Given the description of an element on the screen output the (x, y) to click on. 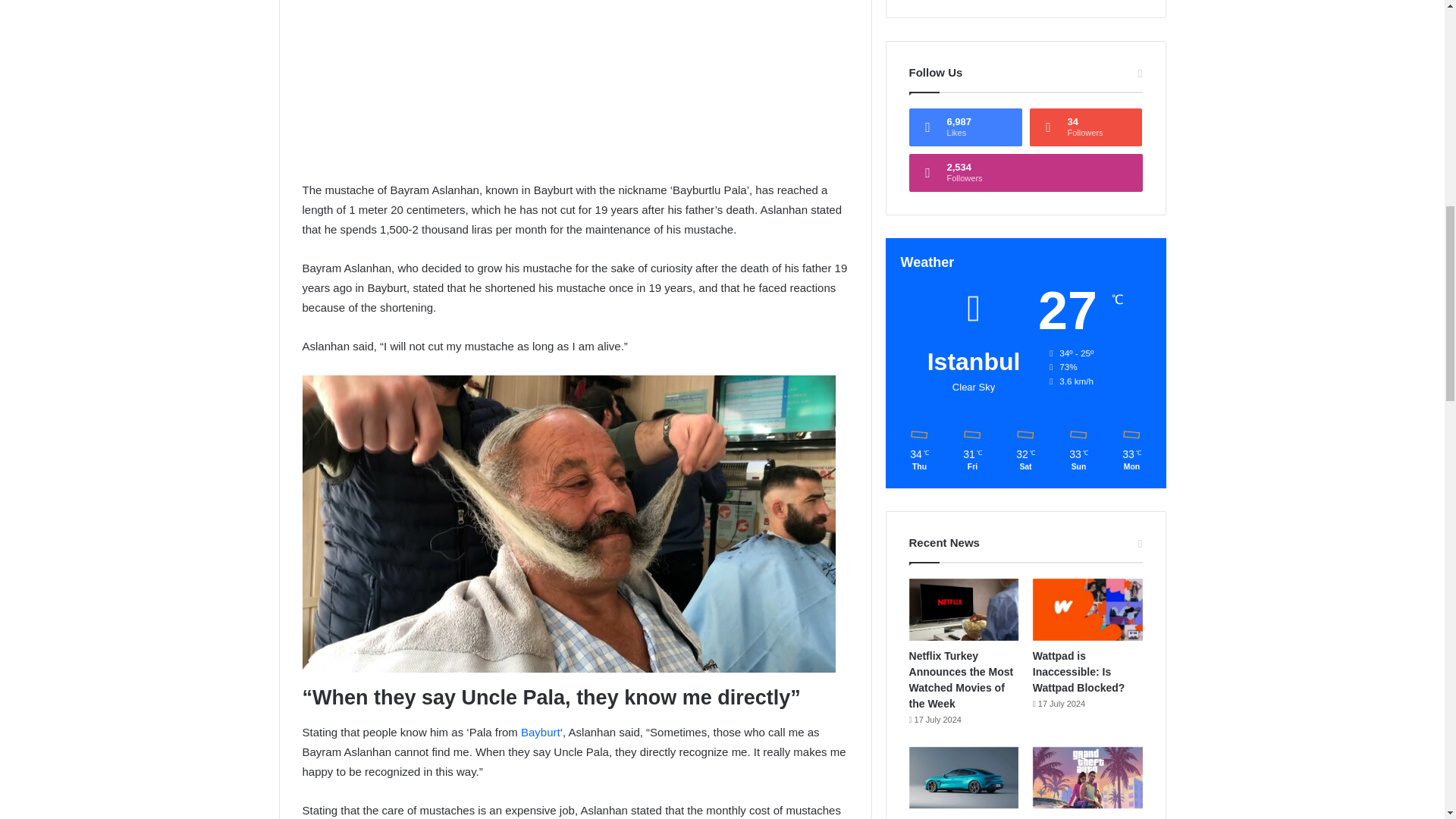
Advertisement (574, 89)
